Given the description of an element on the screen output the (x, y) to click on. 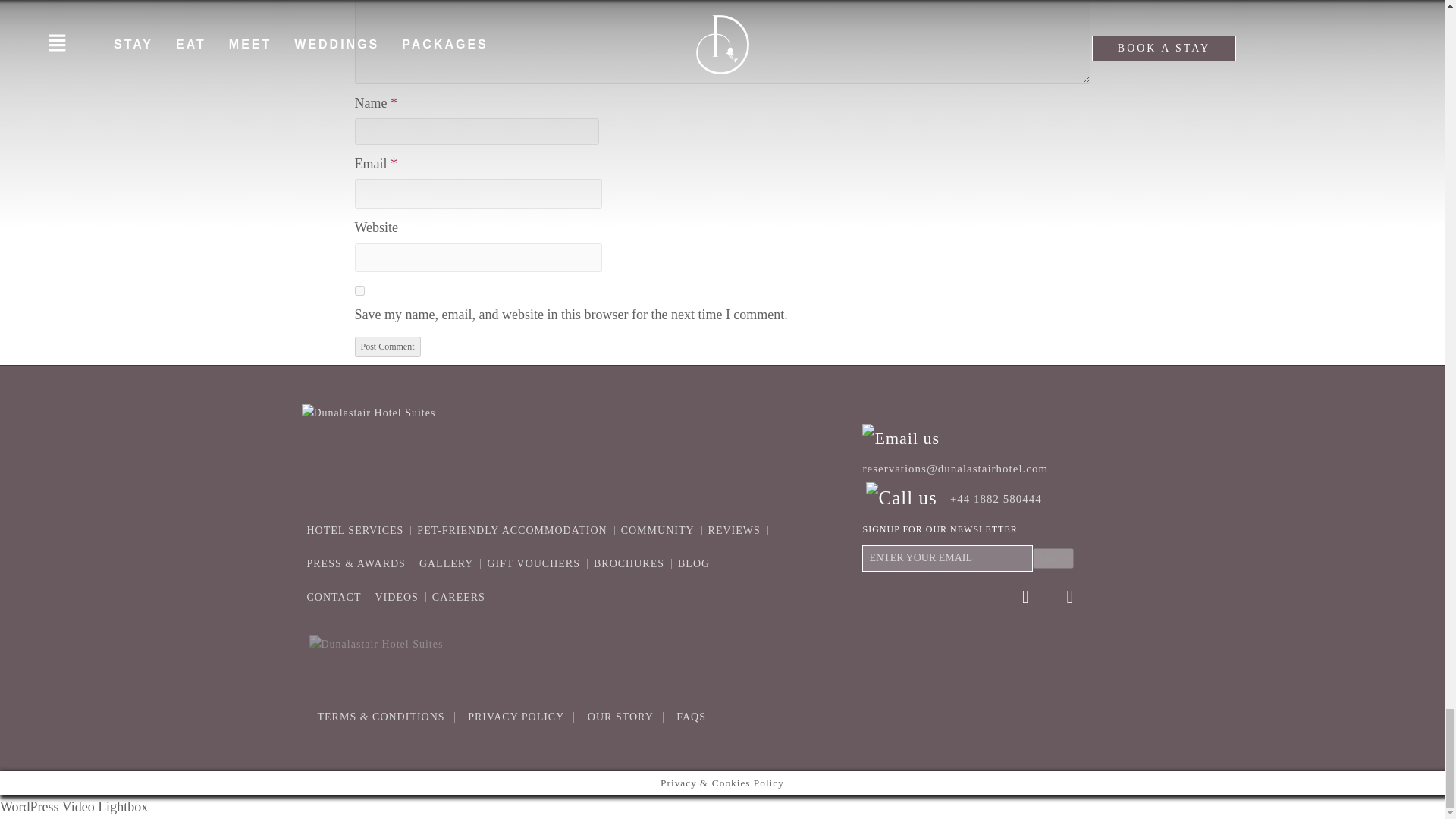
yes (360, 290)
Post Comment (387, 346)
Sign up (1052, 557)
WordPress Video Lightbox (74, 806)
